Given the description of an element on the screen output the (x, y) to click on. 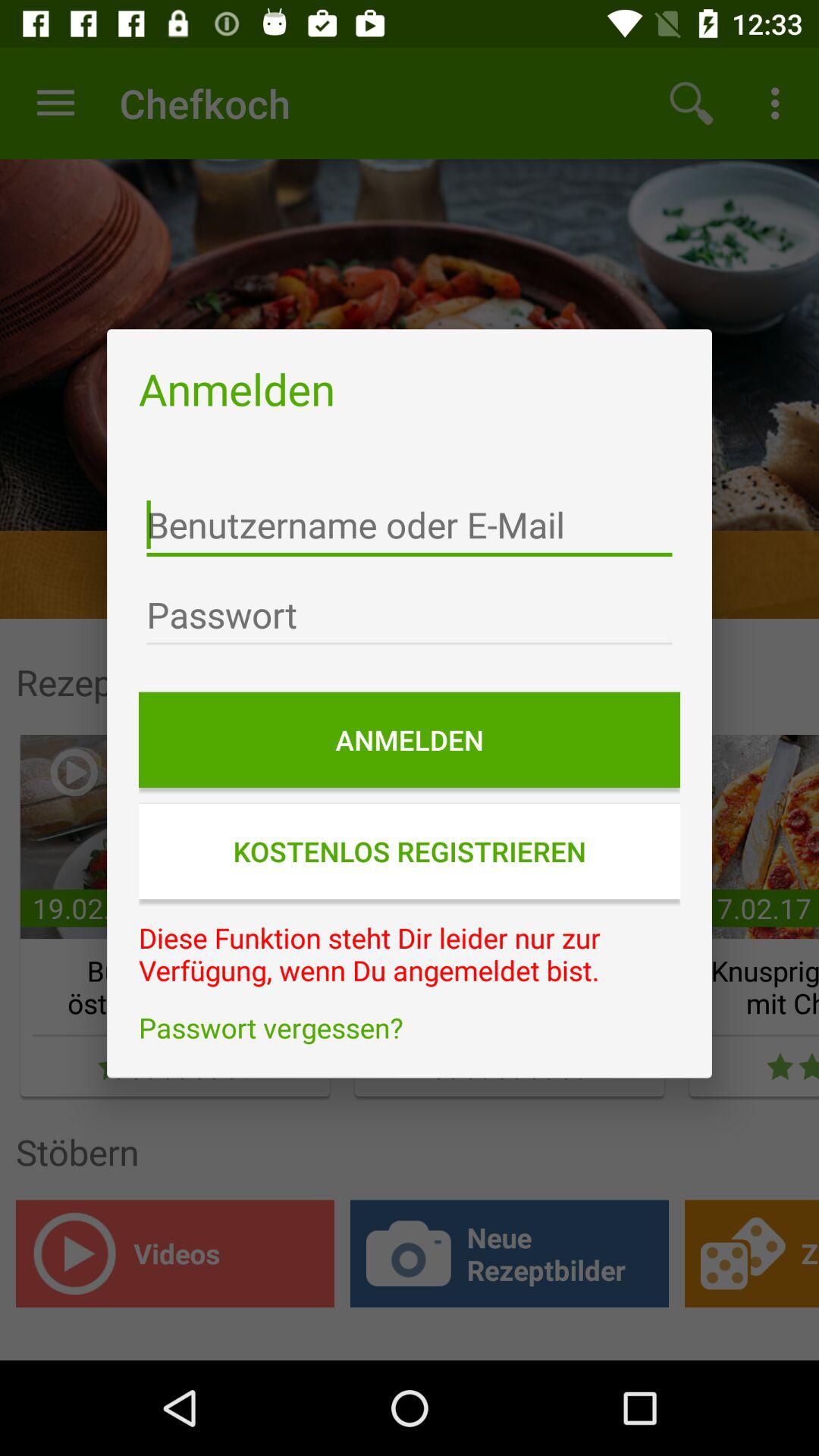
turn off the item below the anmelden icon (409, 525)
